Given the description of an element on the screen output the (x, y) to click on. 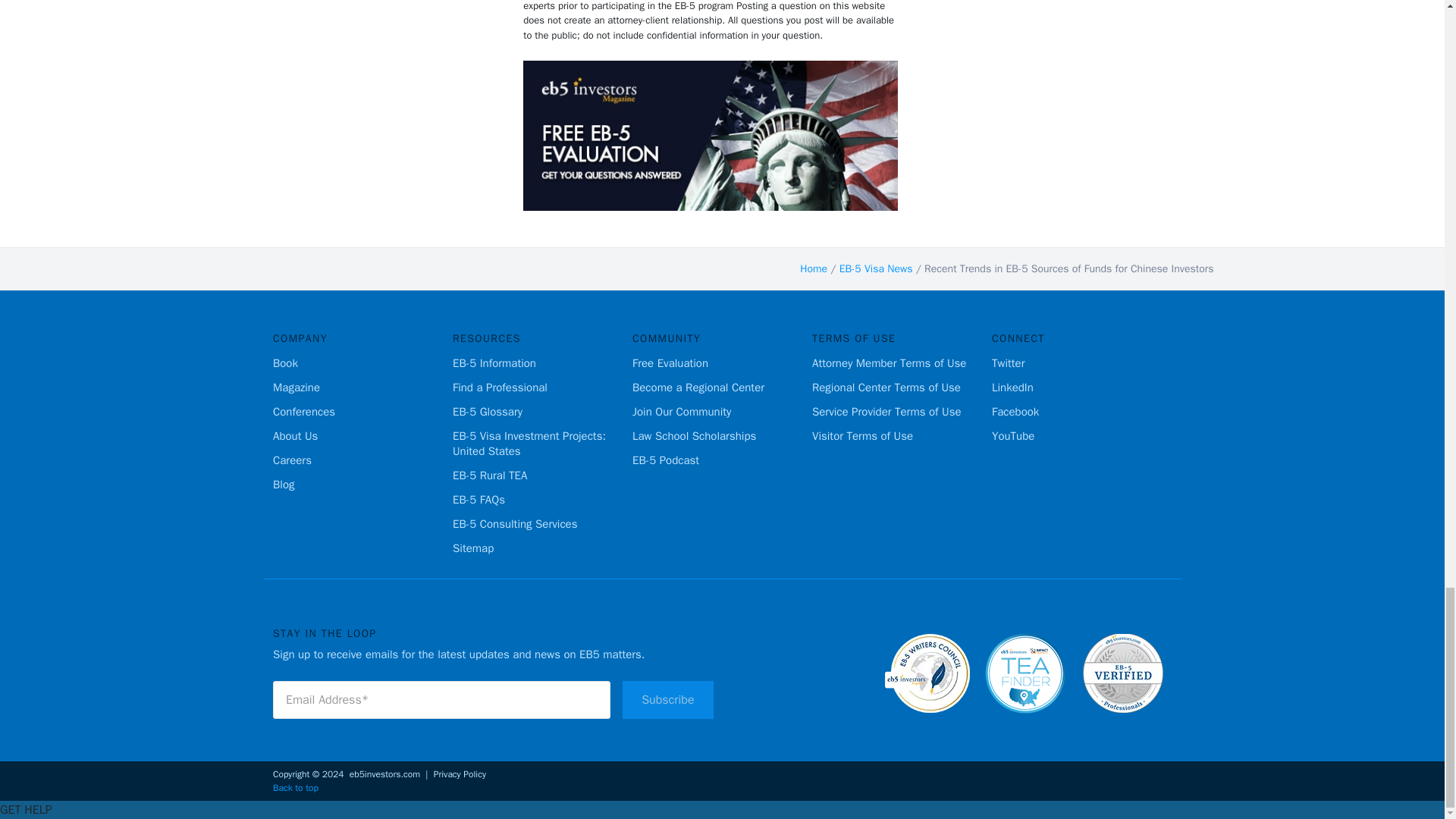
Subscribe (668, 699)
